Given the description of an element on the screen output the (x, y) to click on. 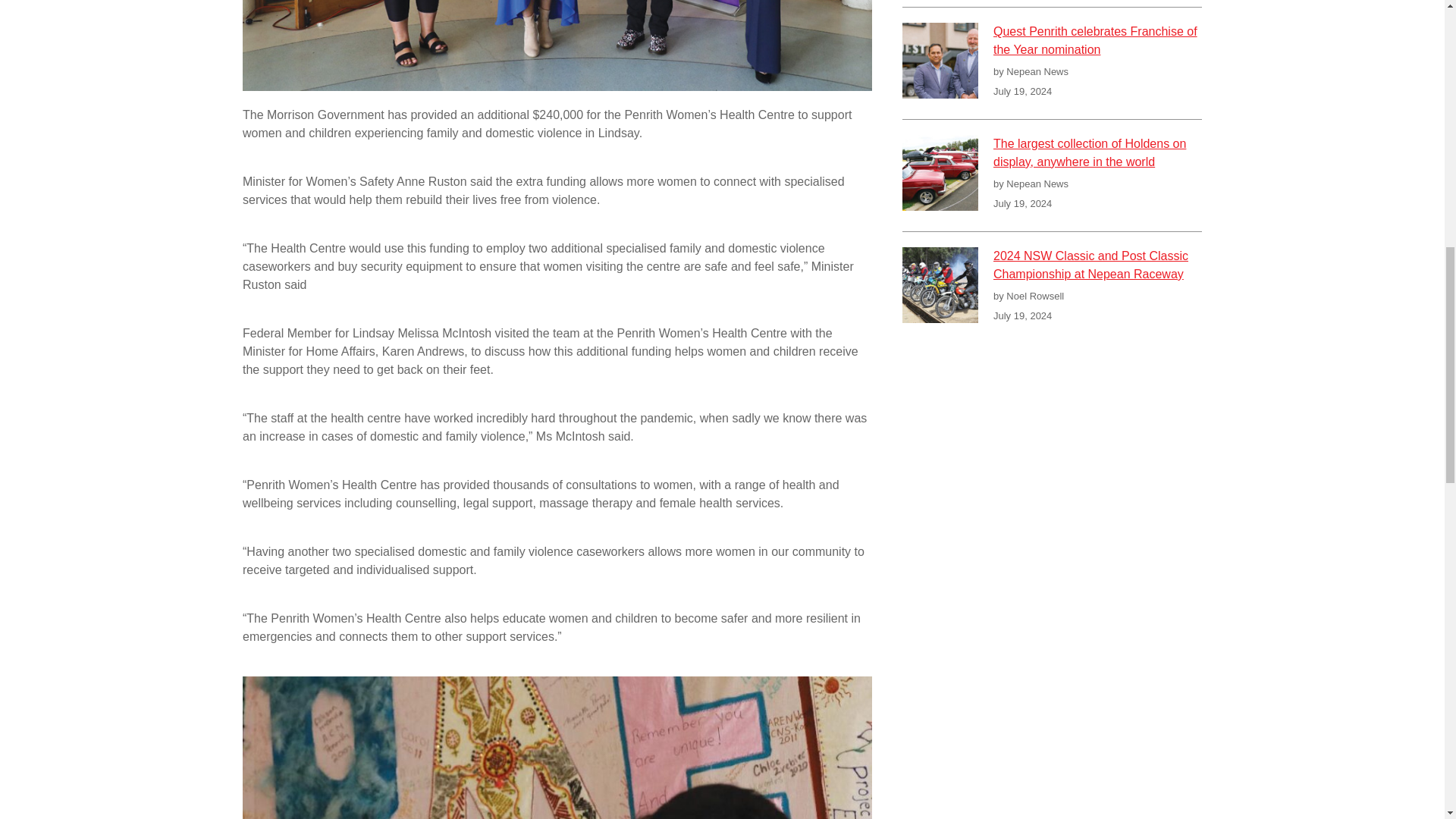
Quest Penrith celebrates Franchise of the Year nomination (1097, 43)
